Given the description of an element on the screen output the (x, y) to click on. 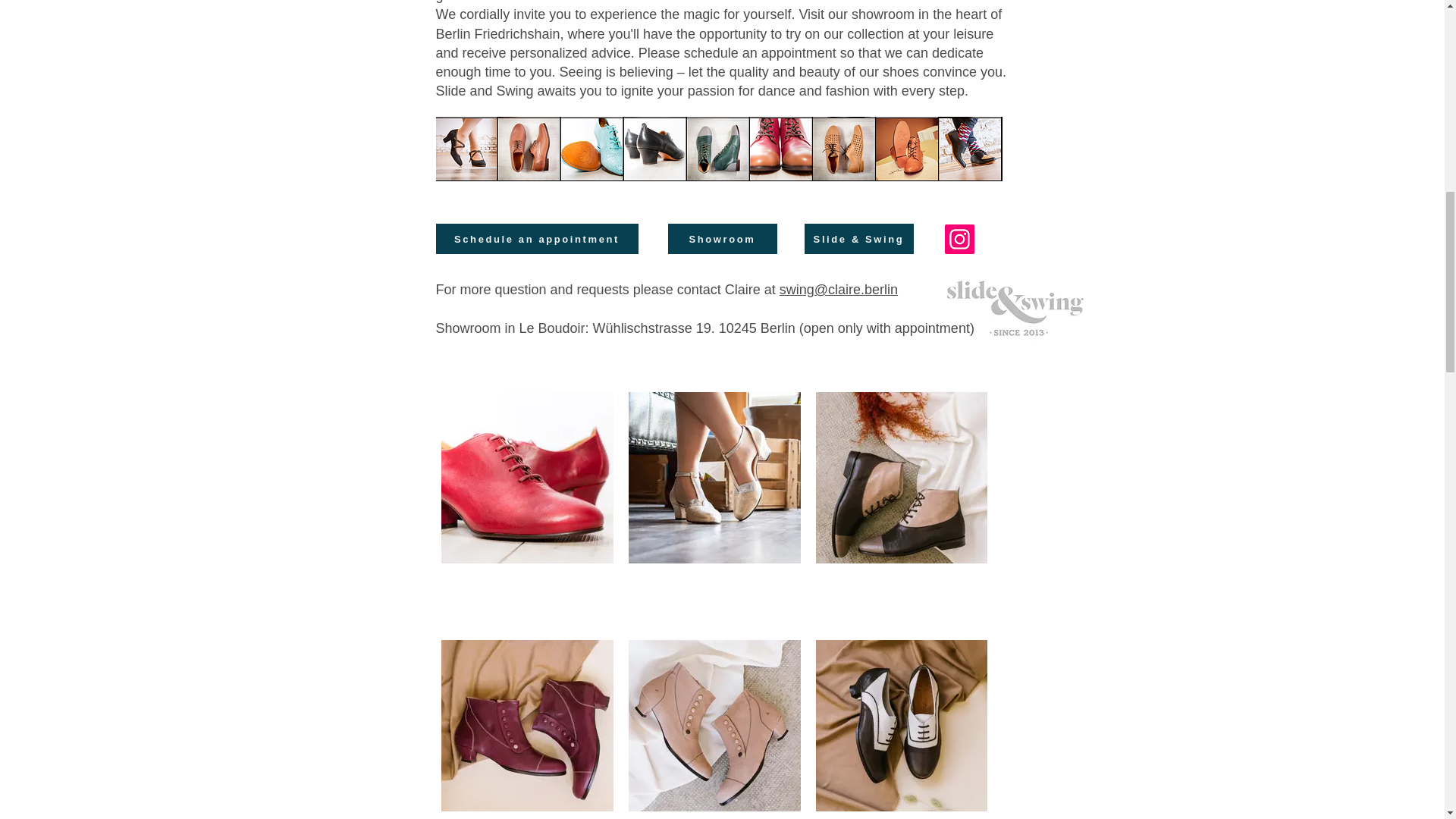
Schedule an appointment (536, 238)
Showroom (721, 238)
